Given the description of an element on the screen output the (x, y) to click on. 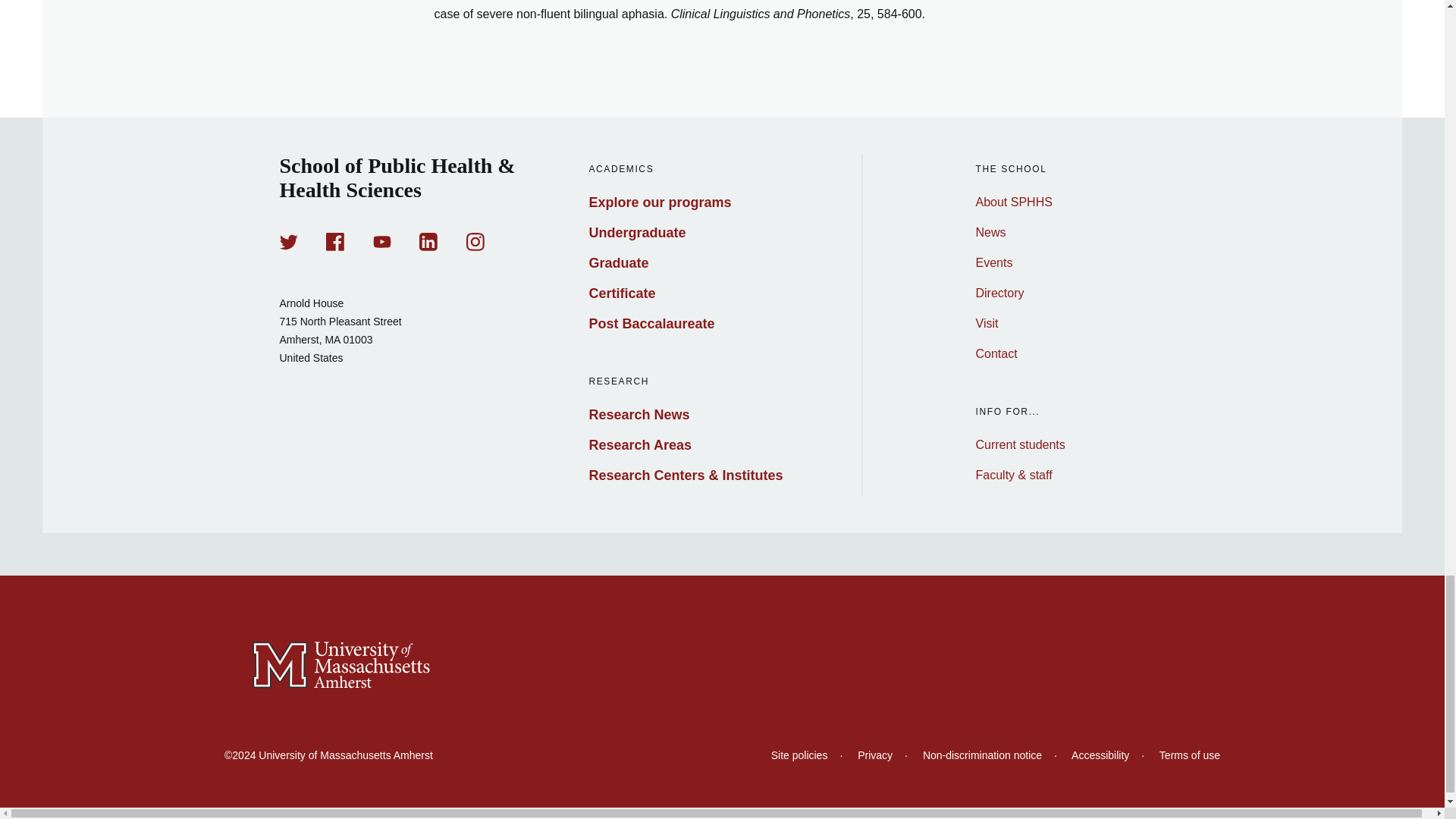
Find us on YouTube (381, 241)
Find us on Twitter (288, 241)
Find us on LinkedIn (428, 241)
University of Massachusetts Amherst (722, 666)
Find us on Facebook (334, 241)
Find us on Instagram (474, 241)
